Given the description of an element on the screen output the (x, y) to click on. 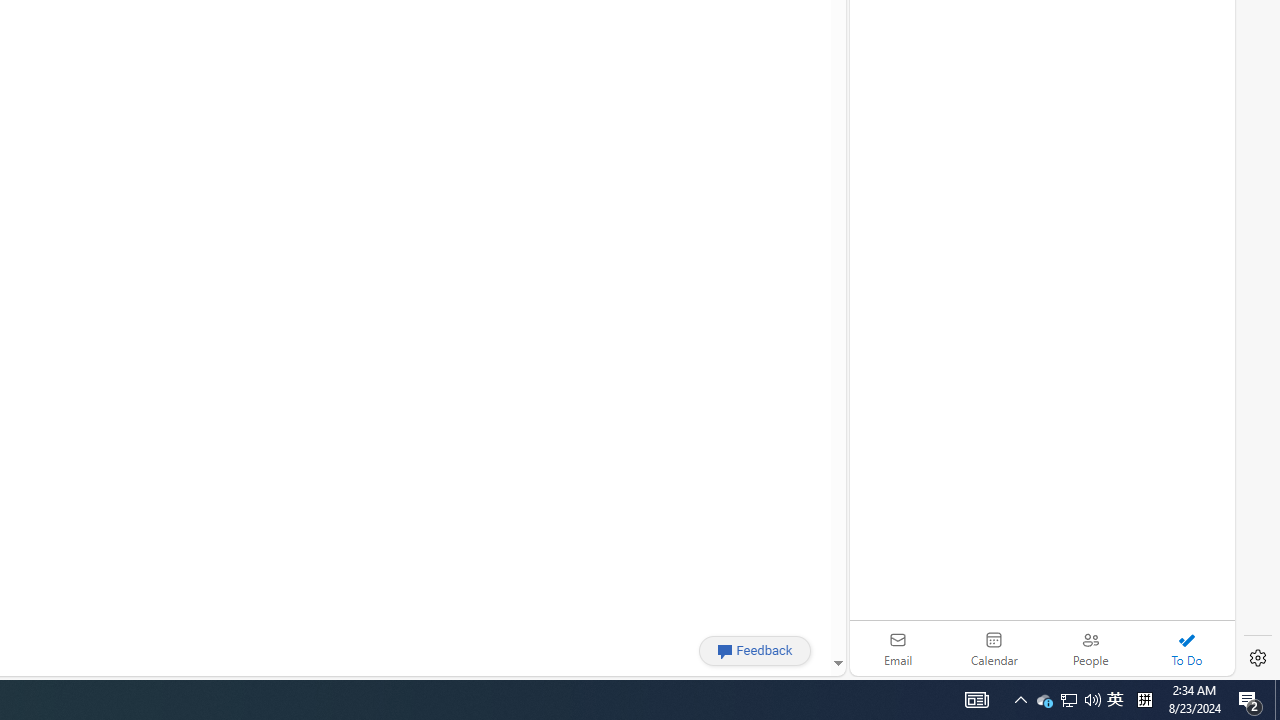
People (1090, 648)
Email (898, 648)
Calendar. Date today is 22 (994, 648)
To Do (1186, 648)
